Given the description of an element on the screen output the (x, y) to click on. 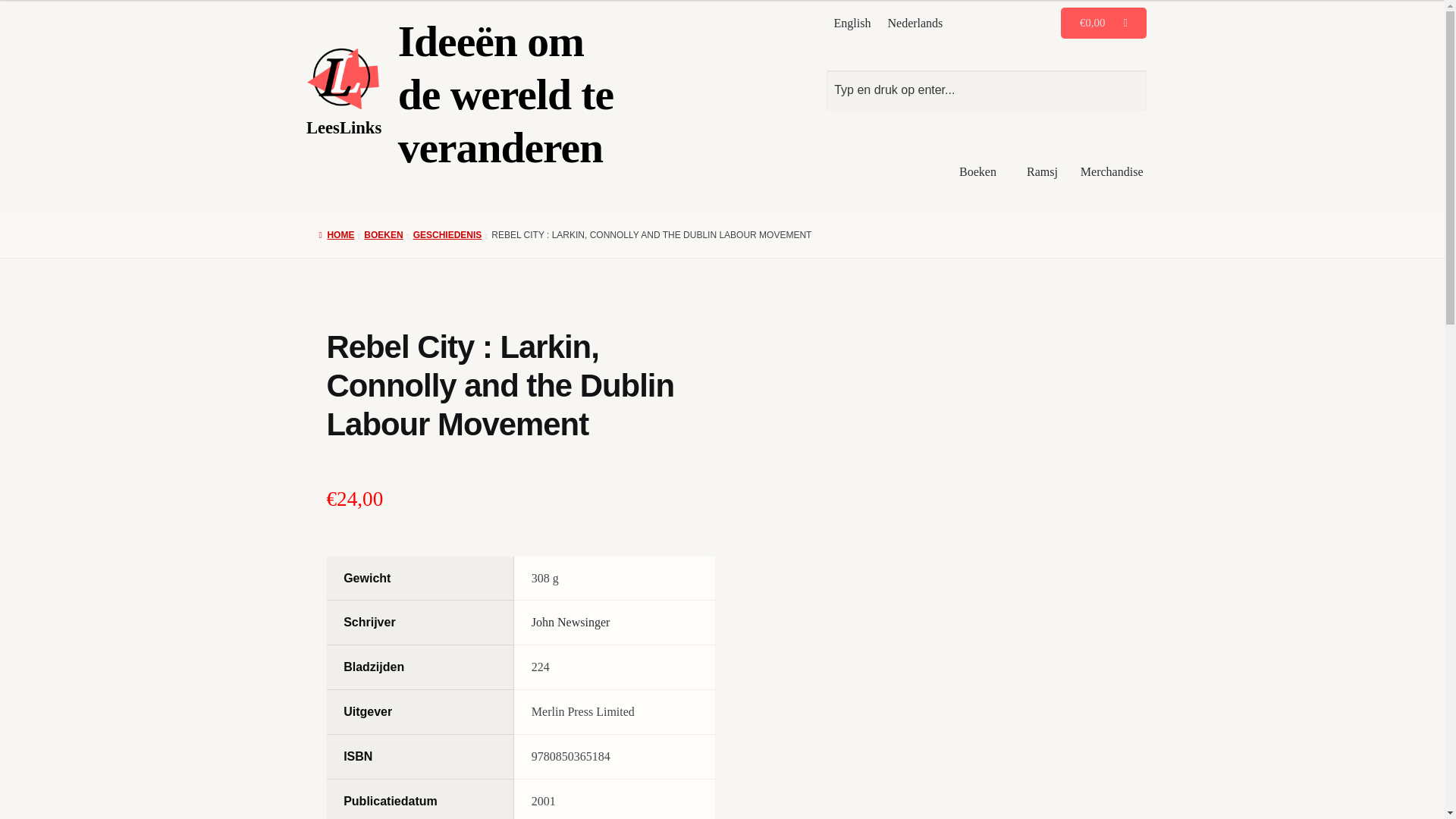
Merchandise (1111, 171)
Ramsj (1041, 171)
English (852, 22)
Dutch (914, 22)
Nederlands (914, 22)
Zoeken (987, 90)
English (852, 22)
Boeken (980, 171)
